Given the description of an element on the screen output the (x, y) to click on. 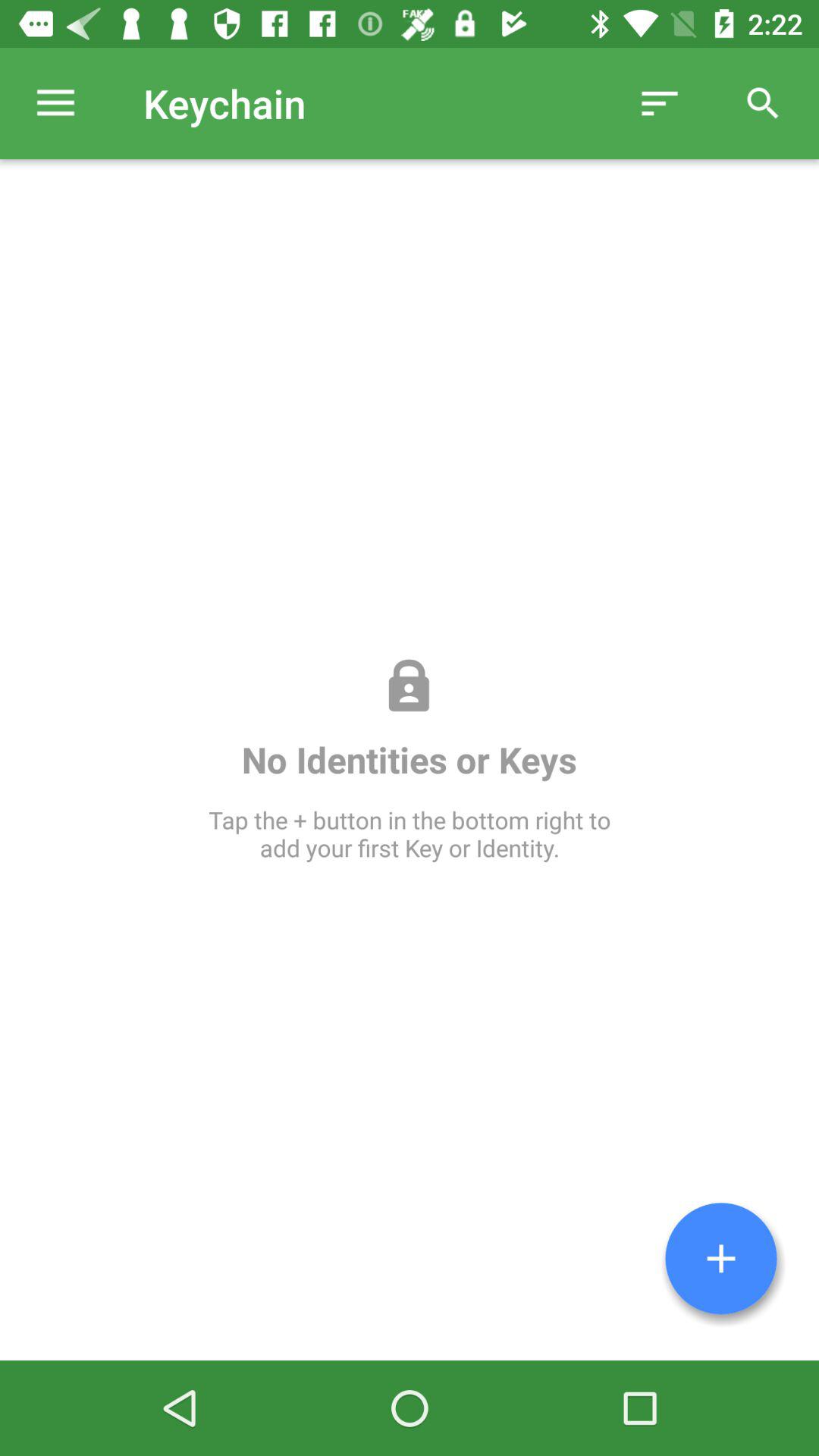
add new item (721, 1258)
